Given the description of an element on the screen output the (x, y) to click on. 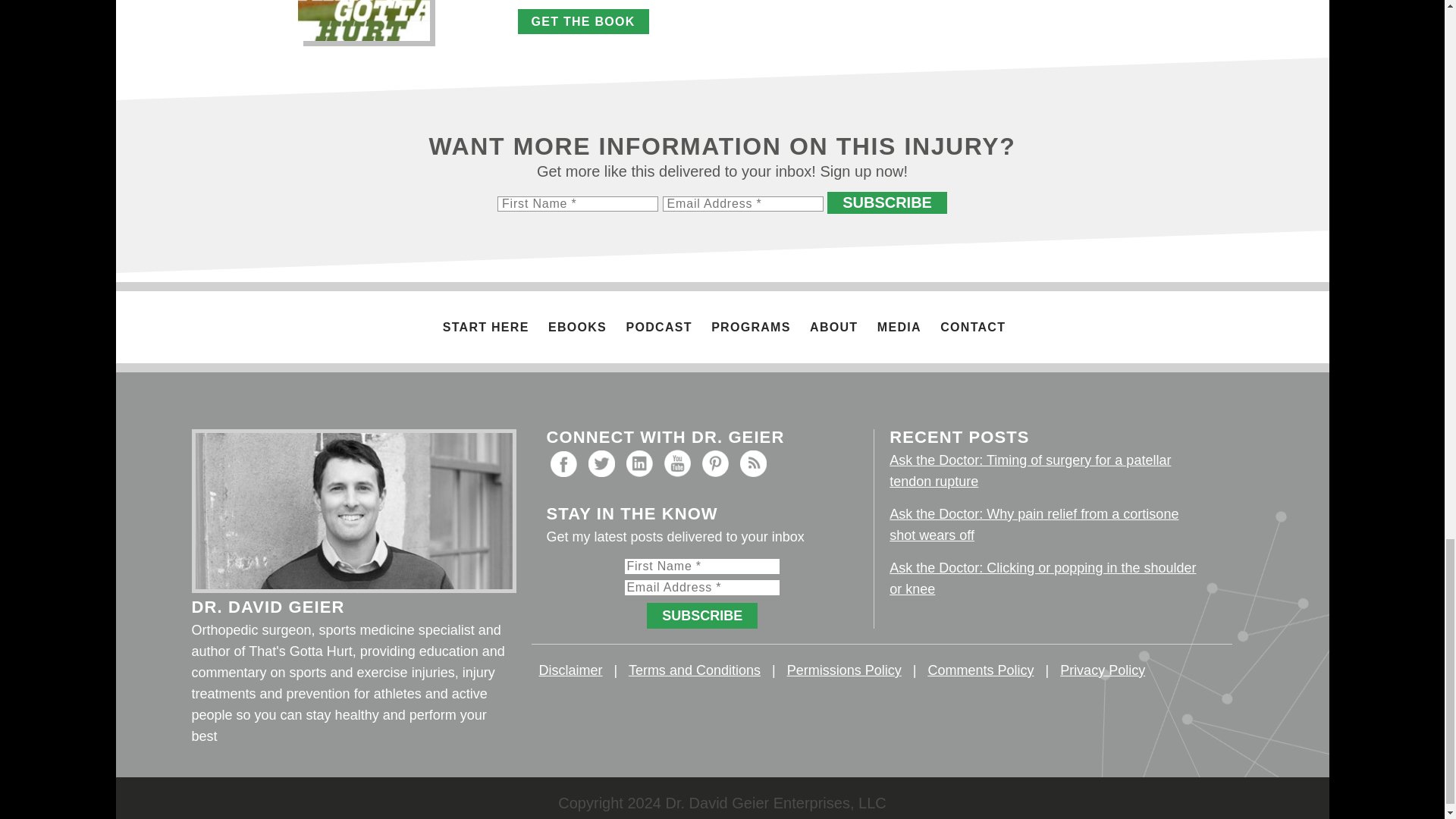
SUBSCRIBE (887, 202)
GET THE BOOK (581, 21)
START HERE (485, 327)
